Given the description of an element on the screen output the (x, y) to click on. 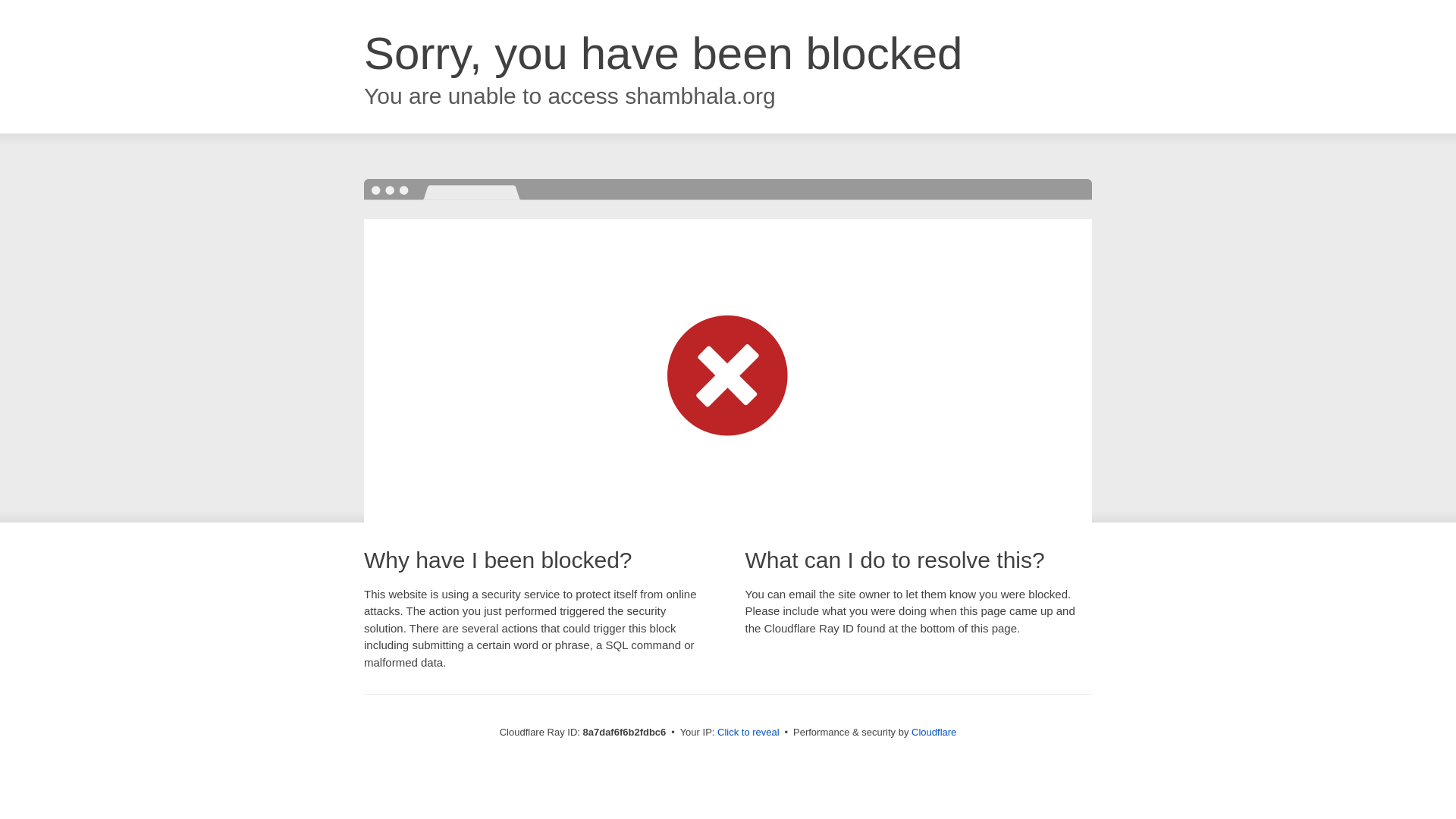
Cloudflare (933, 731)
Click to reveal (747, 732)
